Given the description of an element on the screen output the (x, y) to click on. 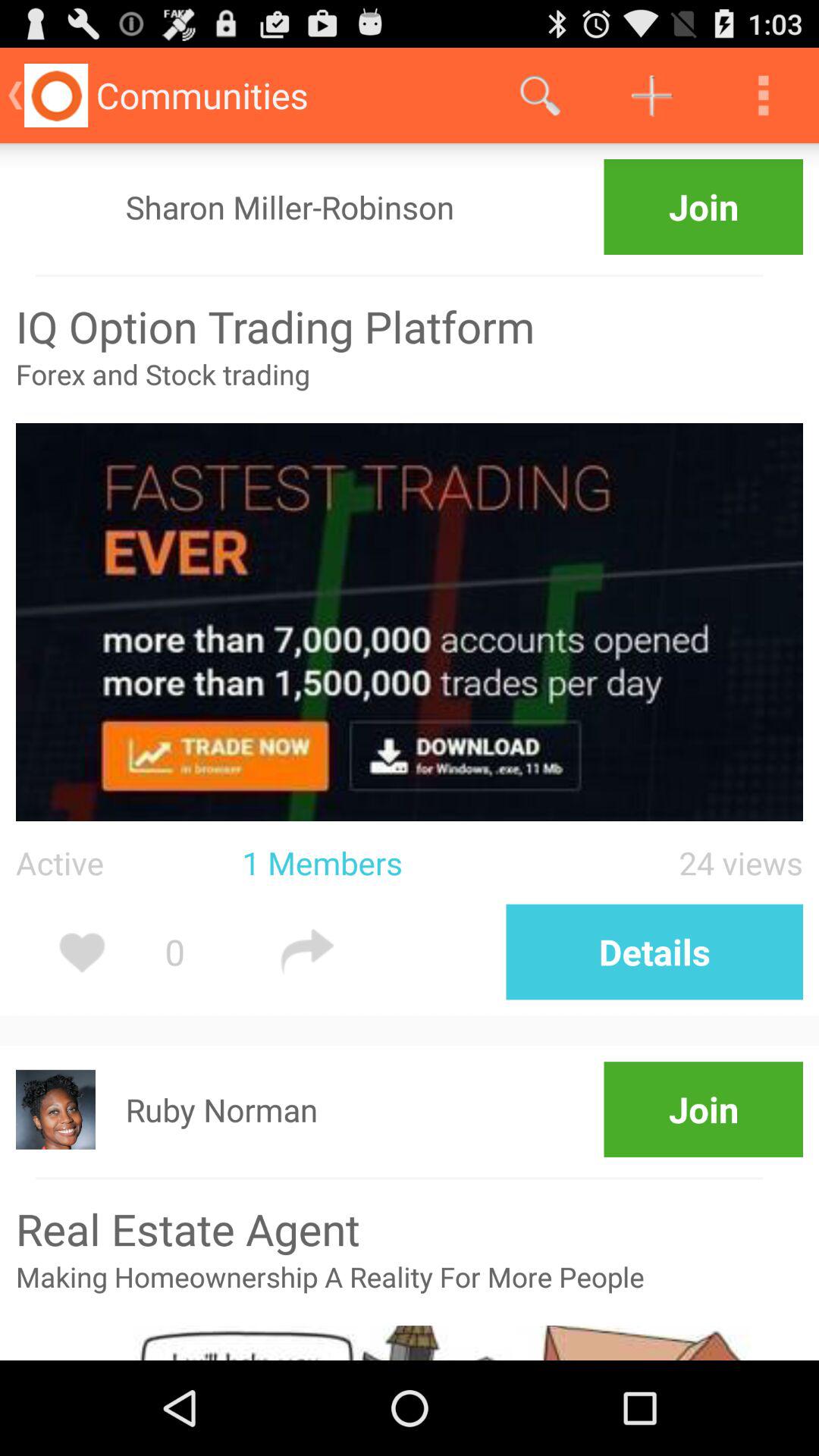
jump to the details item (654, 951)
